Given the description of an element on the screen output the (x, y) to click on. 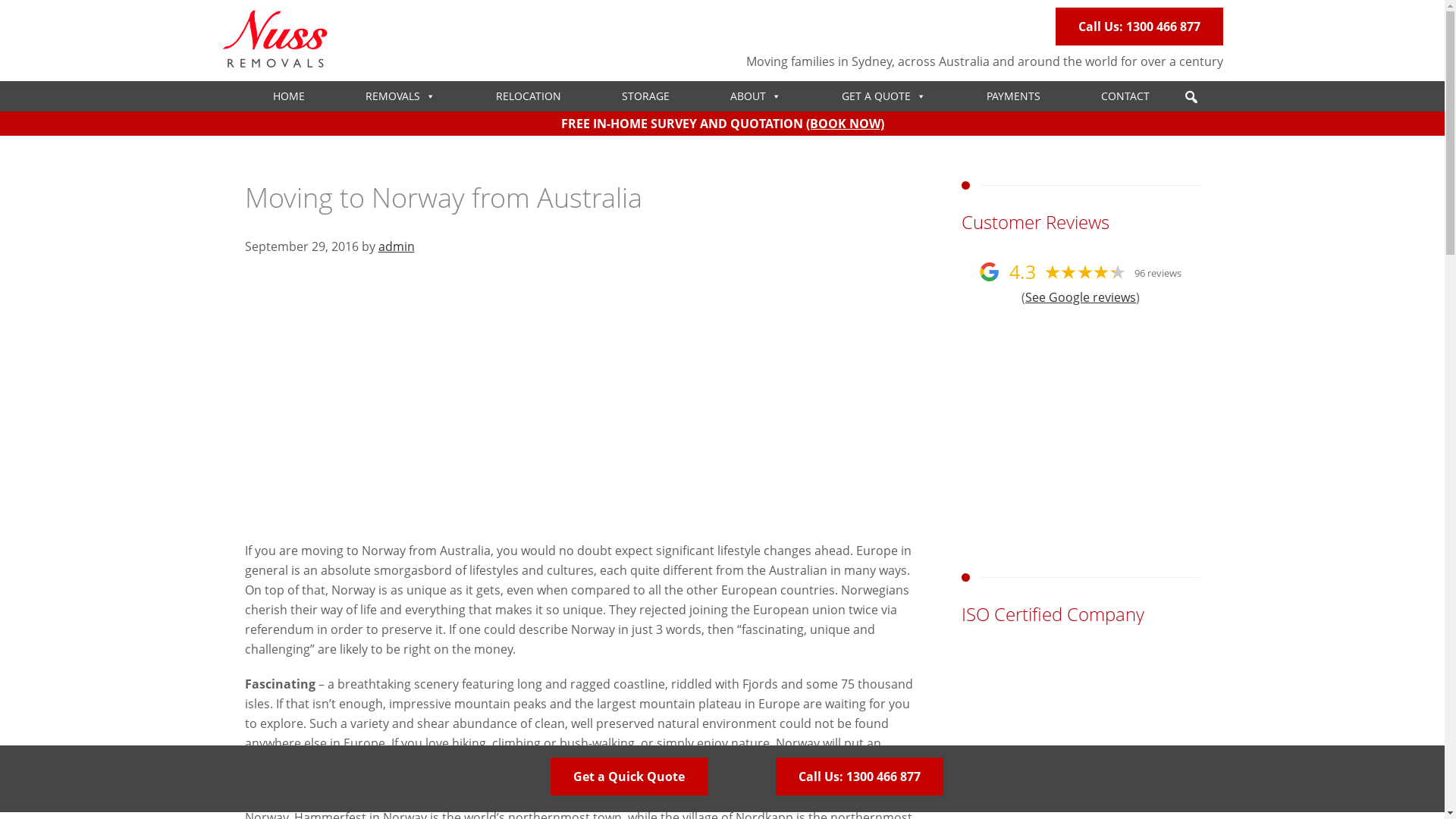
STORAGE Element type: text (645, 96)
admin Element type: text (395, 246)
GET A QUOTE Element type: text (883, 96)
Call Us: 1300 466 877 Element type: text (1139, 26)
Get a Quick Quote Element type: text (628, 776)
RELOCATION Element type: text (528, 96)
See Google reviews Element type: text (1080, 296)
Search Element type: text (22, 50)
ABOUT Element type: text (754, 96)
CONTACT Element type: text (1124, 96)
Powered by Google Element type: hover (988, 271)
Skip to primary navigation Element type: text (0, 0)
REMOVALS Element type: text (400, 96)
(BOOK NOW) Element type: text (844, 123)
Call Us: 1300 466 877 Element type: text (858, 776)
PAYMENTS Element type: text (1012, 96)
HOME Element type: text (288, 96)
